Given the description of an element on the screen output the (x, y) to click on. 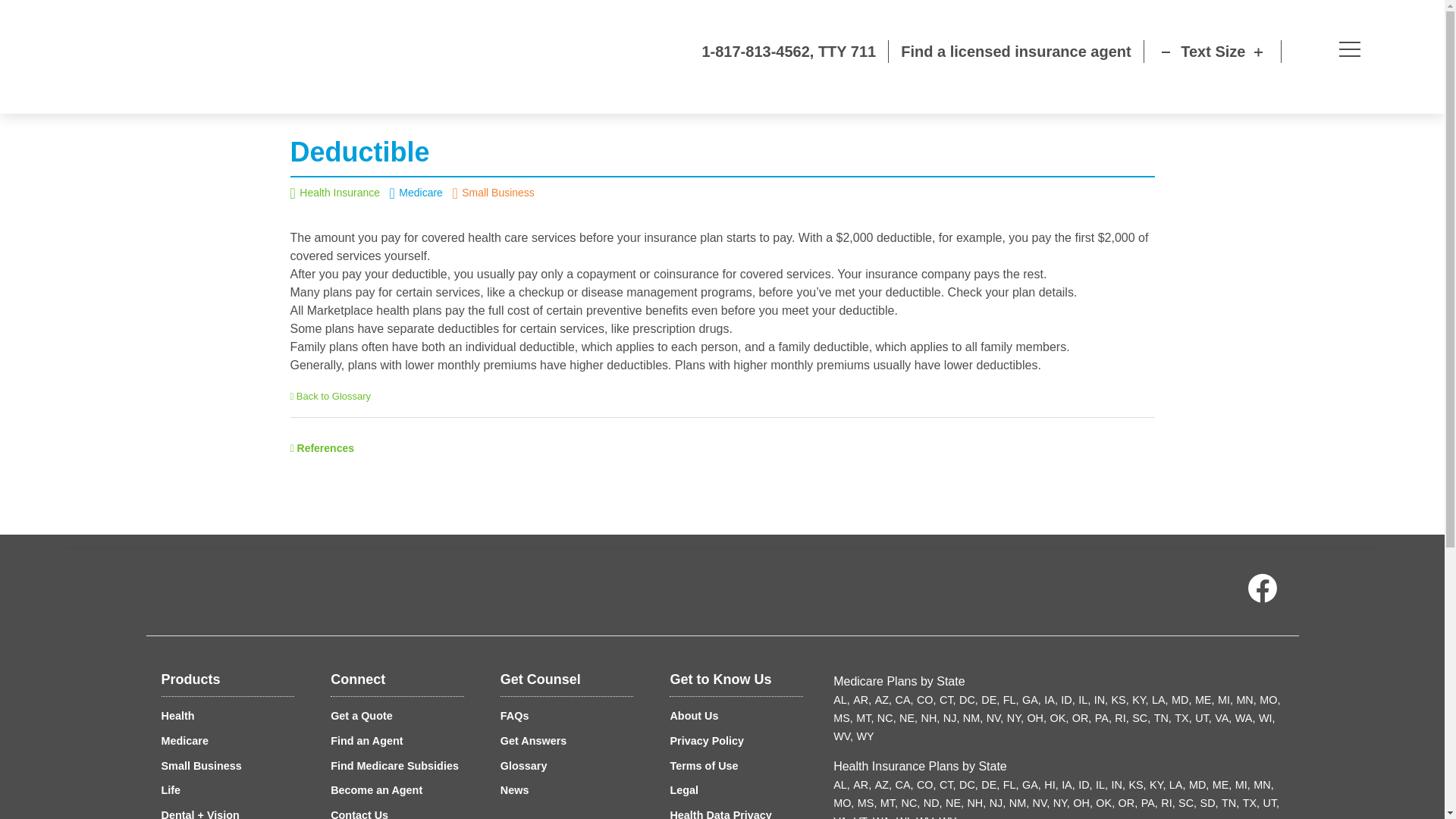
Medicare Insurance Plans in District of Columbia (968, 699)
Medicare Insurance Plans in Idaho (1067, 699)
Medicare Insurance Plans in California (904, 699)
Medicare Insurance Plans in Georgia (1031, 699)
Facebook (1261, 591)
Medicare Insurance Plans in Florida (1011, 699)
Small Business (200, 766)
Small Business (497, 192)
Go to Healthmarkets.com (140, 56)
Health Insurance (339, 192)
